Given the description of an element on the screen output the (x, y) to click on. 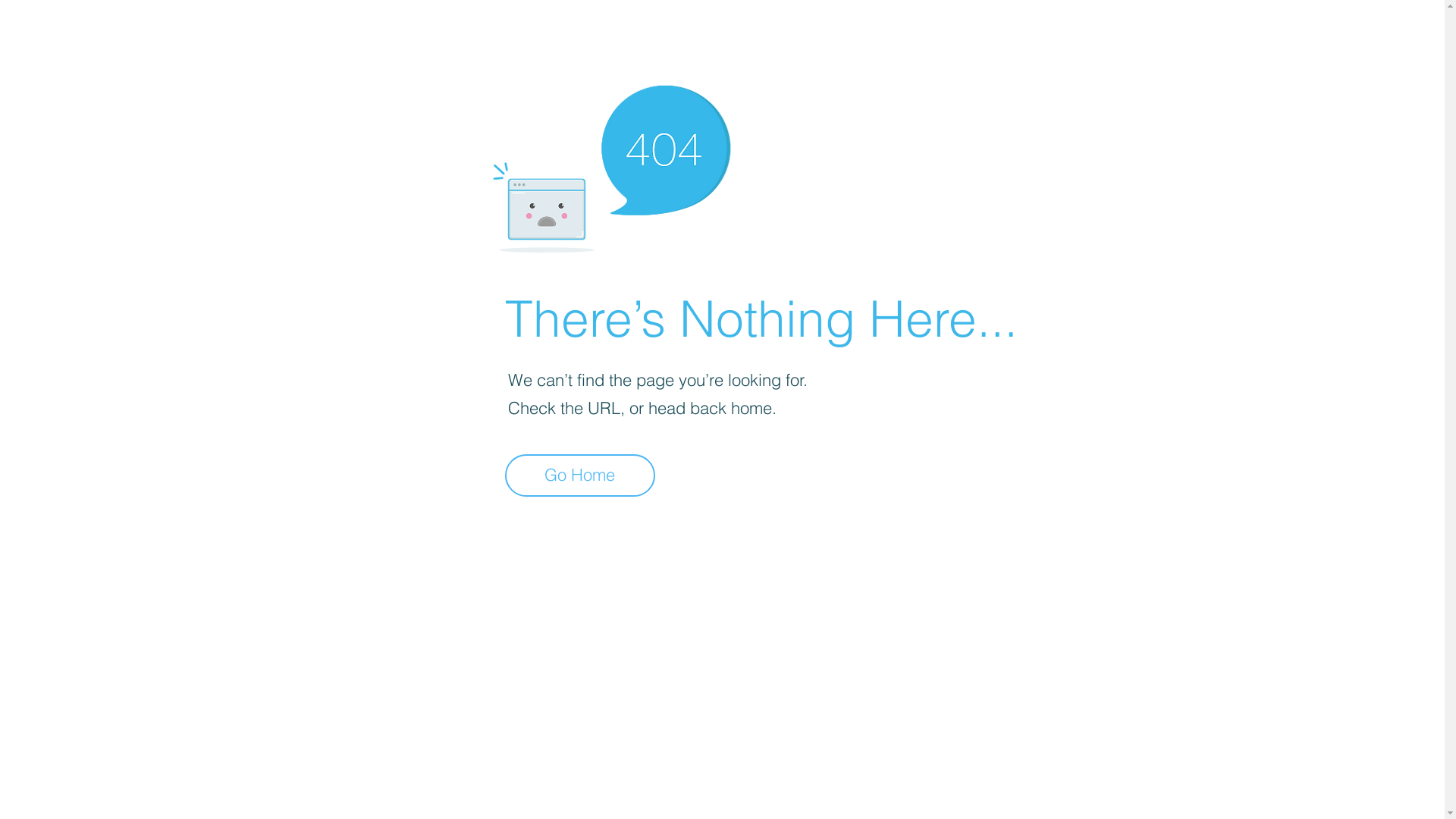
Go Home Element type: text (580, 475)
404-icon_2.png Element type: hover (610, 164)
